Given the description of an element on the screen output the (x, y) to click on. 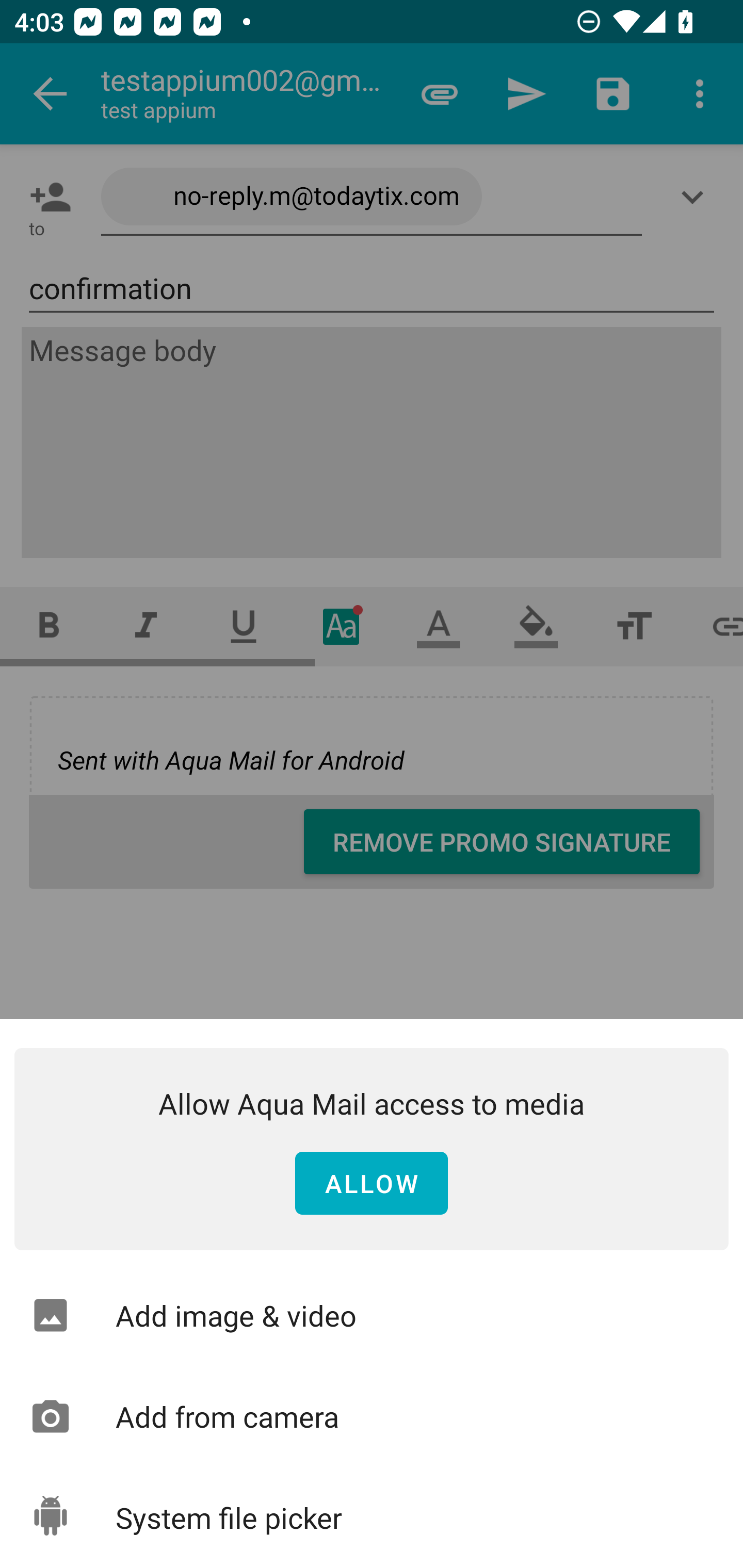
ALLOW (371, 1183)
